Given the description of an element on the screen output the (x, y) to click on. 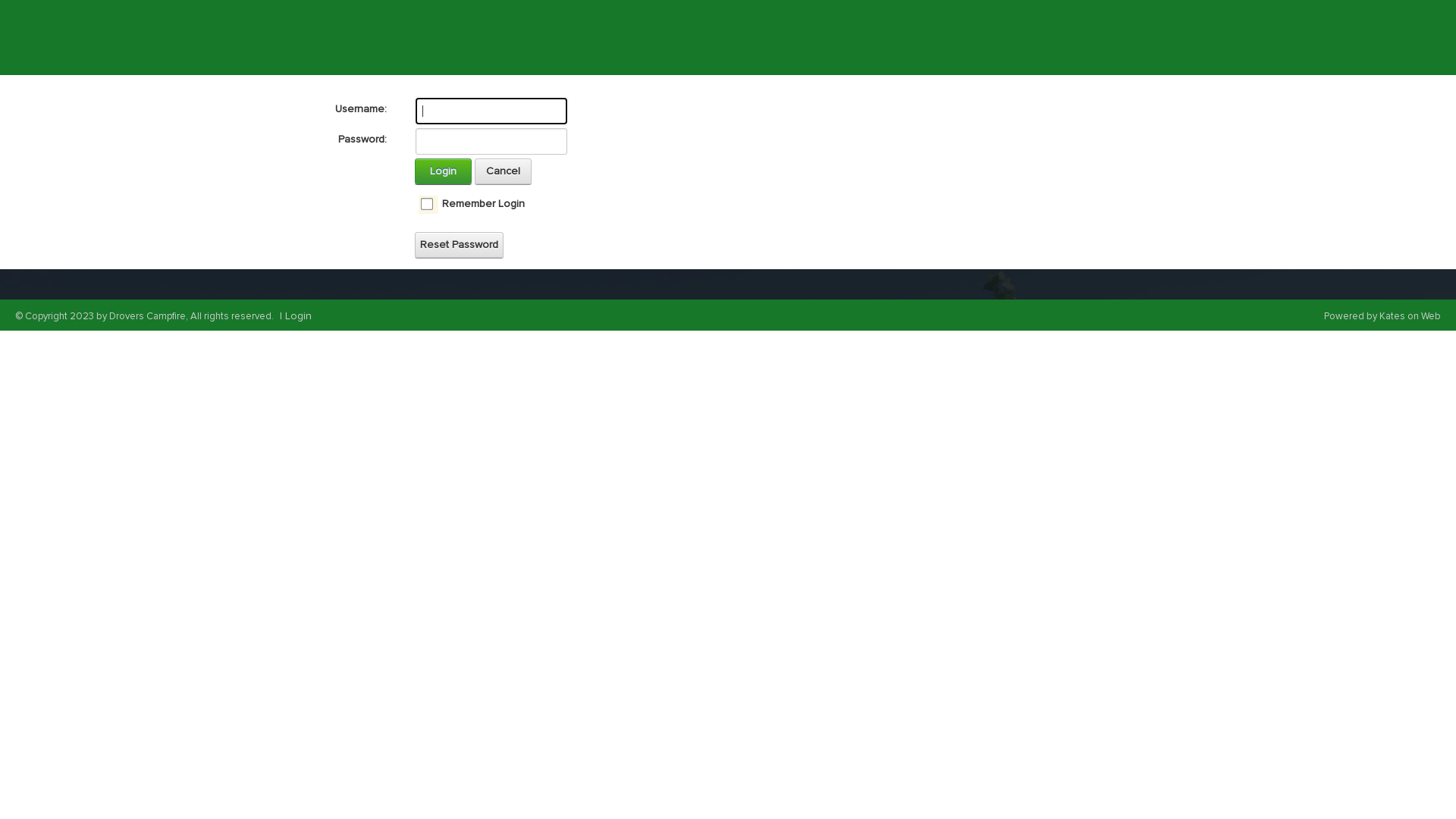
Home Element type: text (448, 37)
Local Information Element type: text (619, 35)
Kates on Web Element type: text (1409, 316)
Galleries Element type: text (719, 35)
Drove Store Element type: text (885, 35)
Cancel Element type: text (502, 171)
Reset Password Element type: text (458, 244)
Contact Us Element type: text (799, 35)
Campfire Element type: text (969, 35)
Registrations Element type: text (1059, 35)
About Us Element type: text (517, 35)
Login Element type: text (442, 171)
Drovers Campfire Element type: hover (327, 36)
Login Element type: text (298, 315)
